Given the description of an element on the screen output the (x, y) to click on. 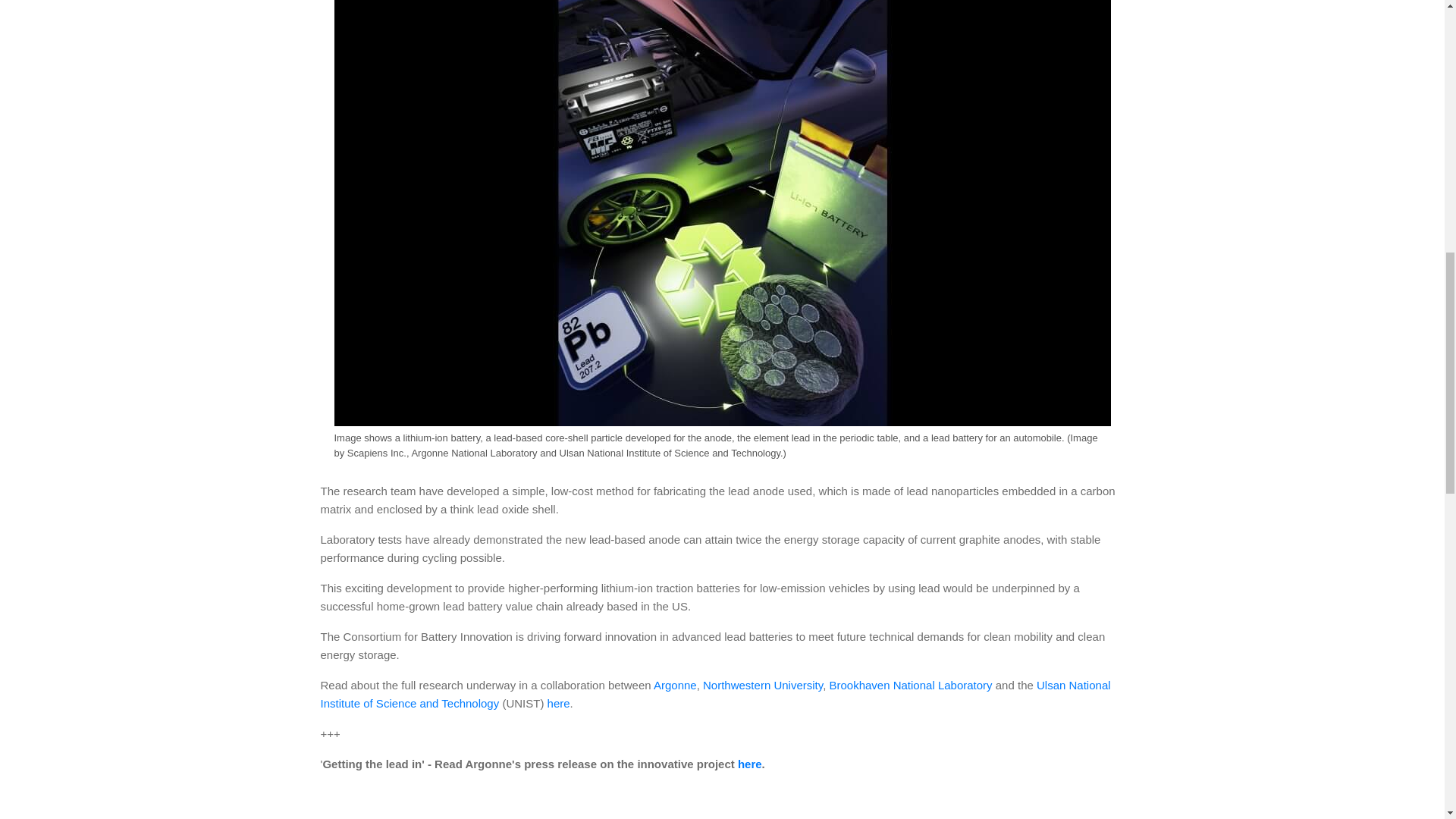
Brookhaven National Laboratory (909, 684)
here (749, 763)
Argonne (675, 684)
here (558, 703)
Northwestern University (762, 684)
Ulsan National Institute of Science and Technology (714, 694)
